Given the description of an element on the screen output the (x, y) to click on. 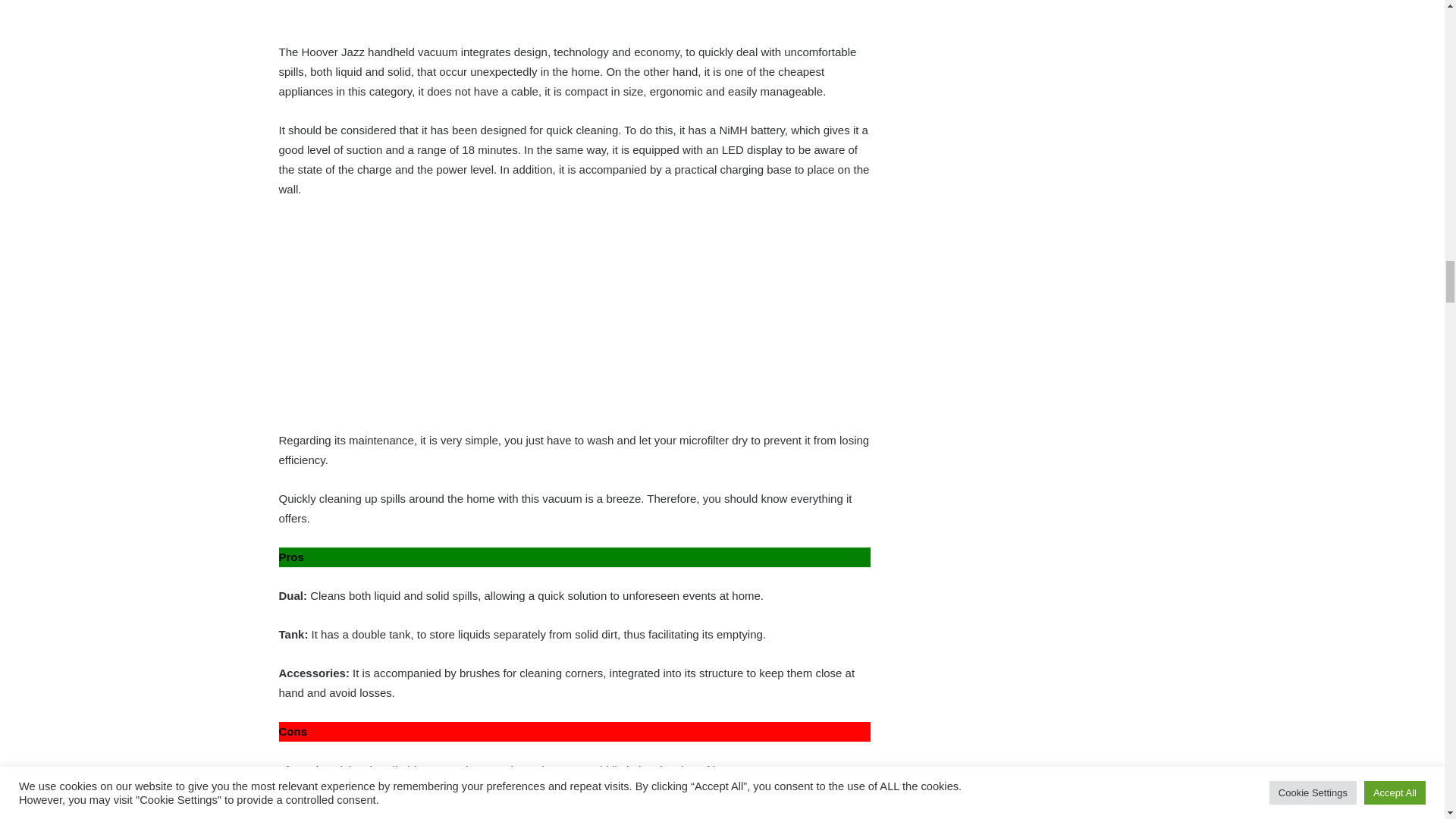
See this product on Amazon (380, 810)
